Given the description of an element on the screen output the (x, y) to click on. 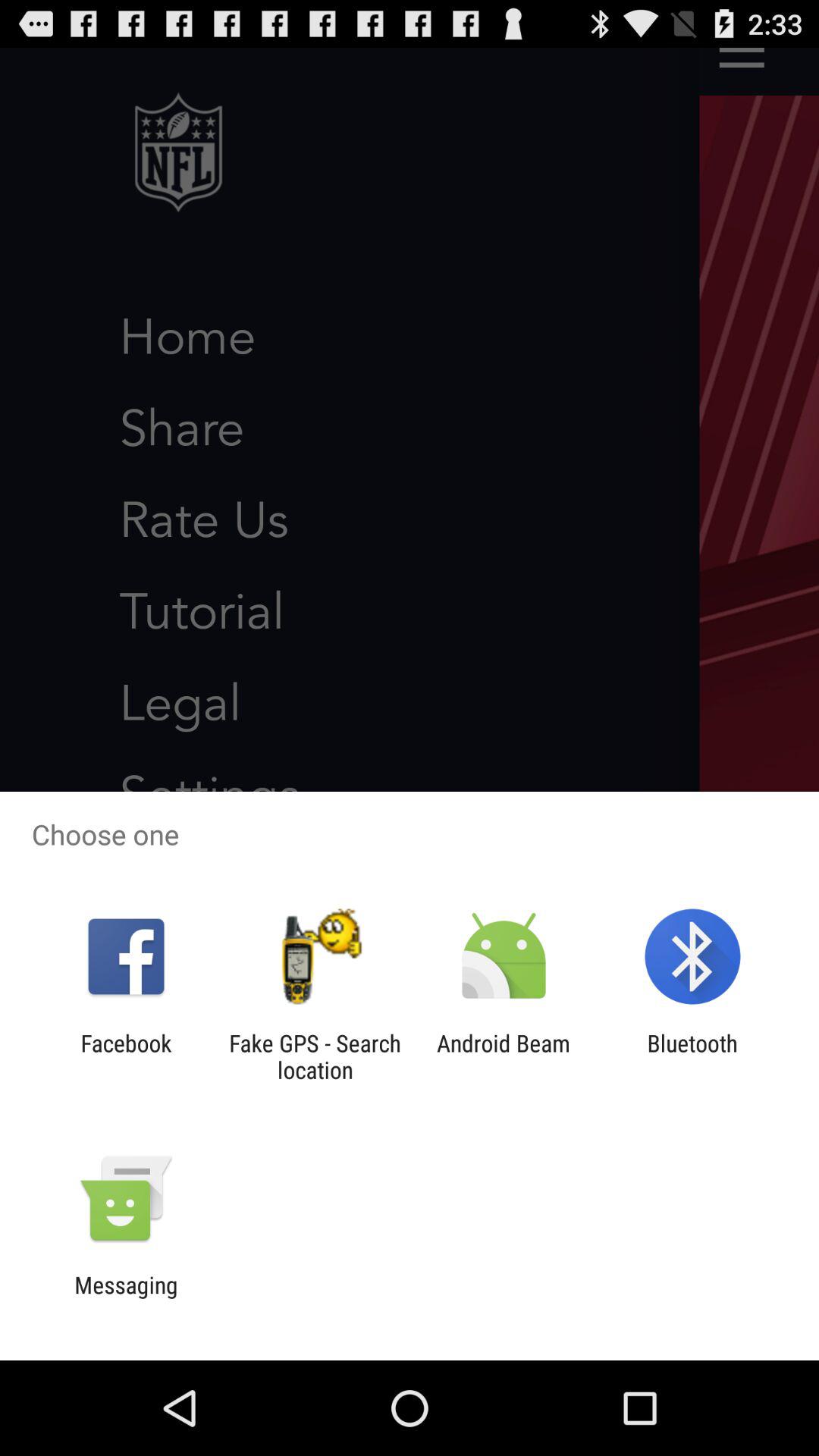
turn off facebook item (125, 1056)
